Given the description of an element on the screen output the (x, y) to click on. 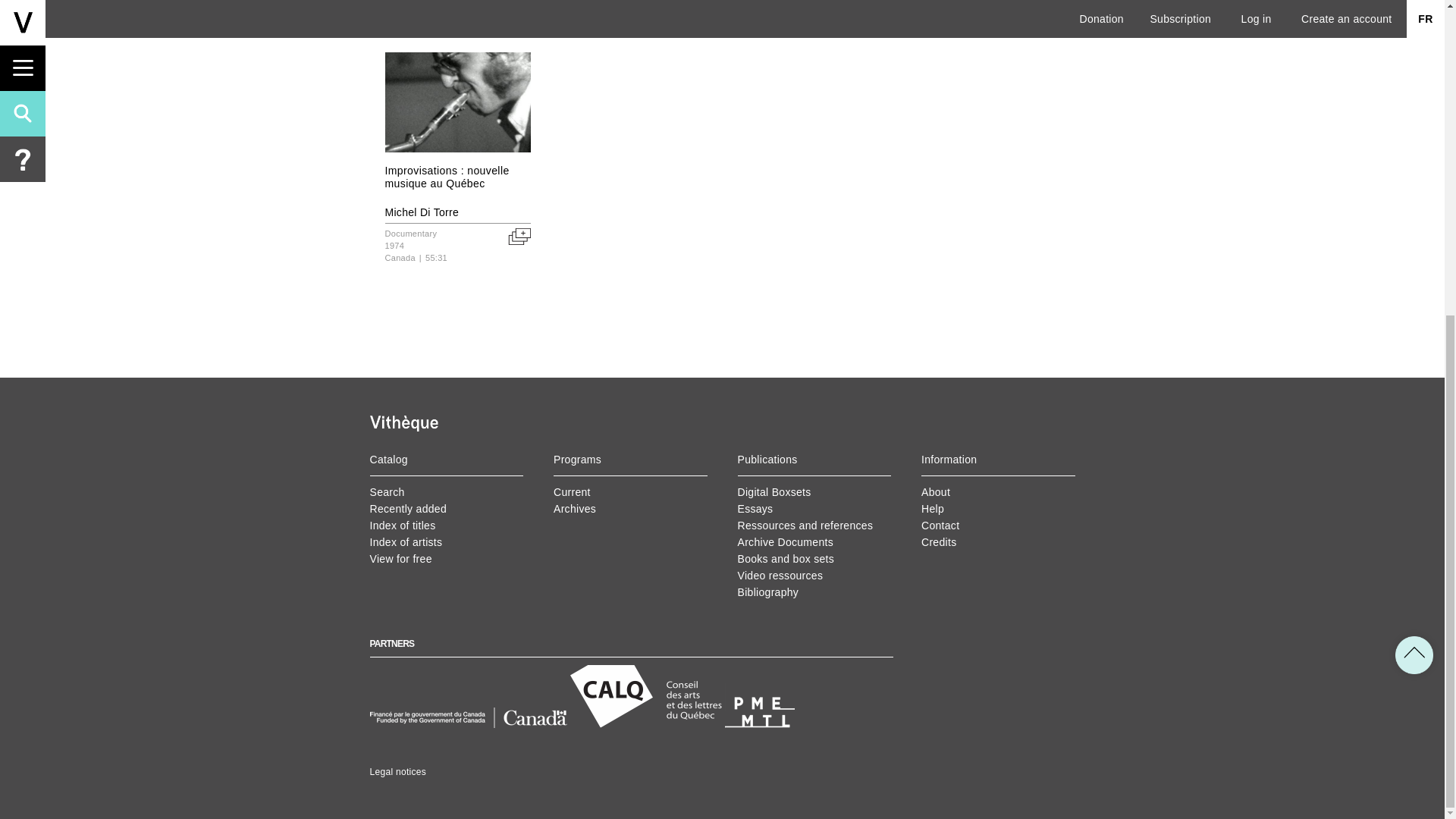
Home (403, 424)
